Given the description of an element on the screen output the (x, y) to click on. 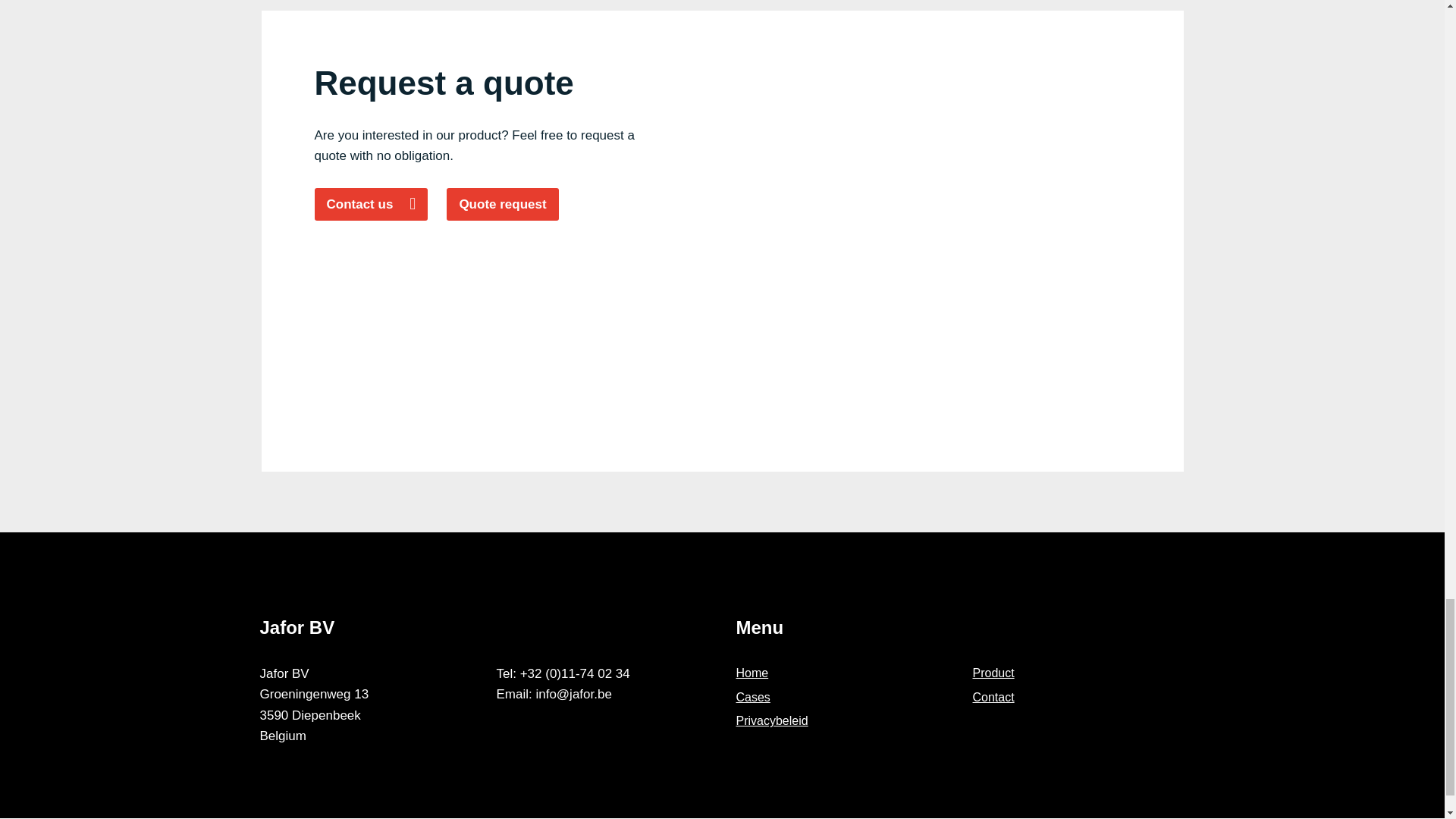
Cases (752, 697)
Contact us (371, 204)
Home (751, 672)
Contact (992, 697)
Product (992, 672)
Quote request (501, 204)
Privacybeleid (771, 720)
